Given the description of an element on the screen output the (x, y) to click on. 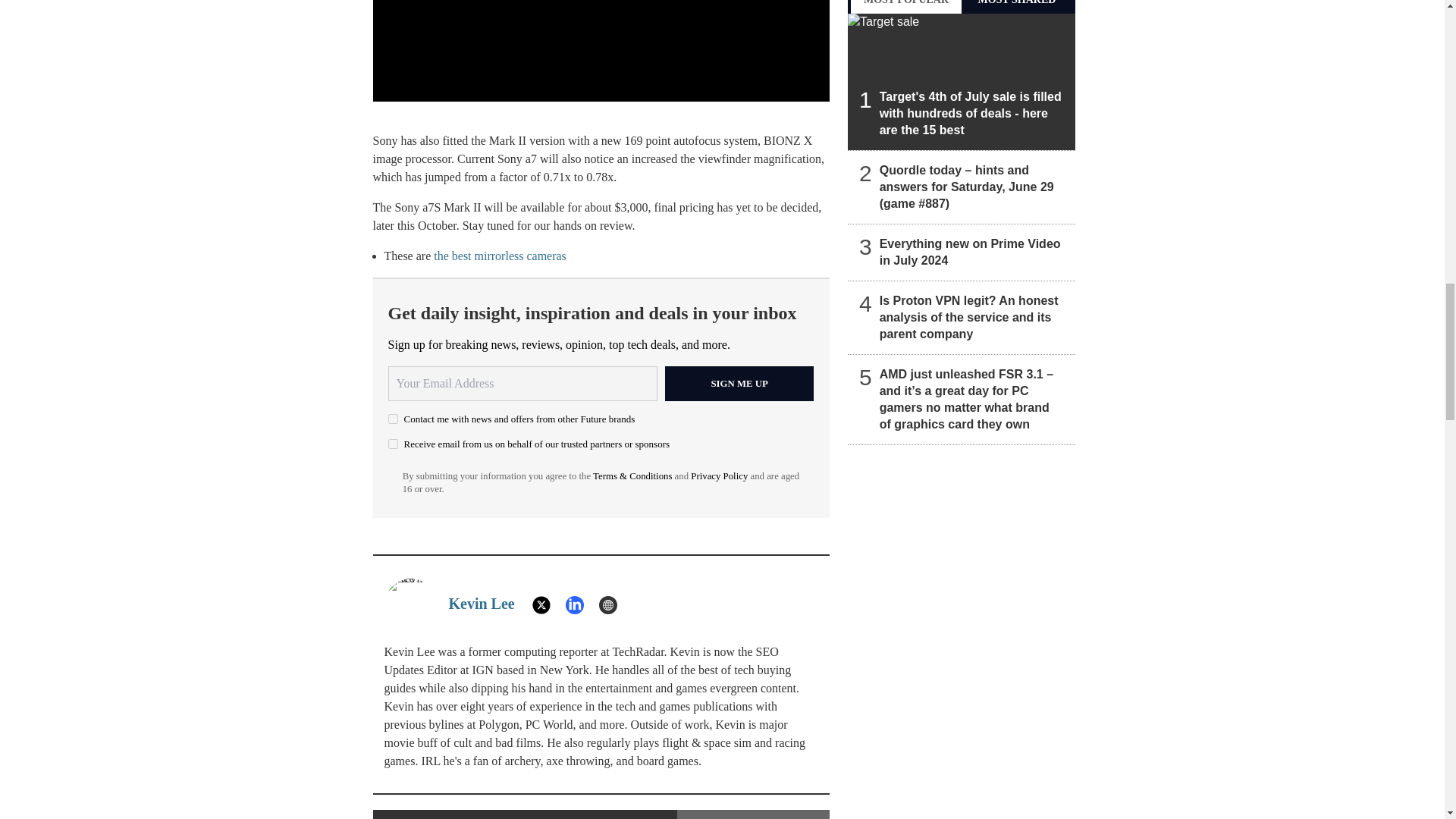
on (392, 419)
Sign me up (739, 383)
on (392, 443)
